Given the description of an element on the screen output the (x, y) to click on. 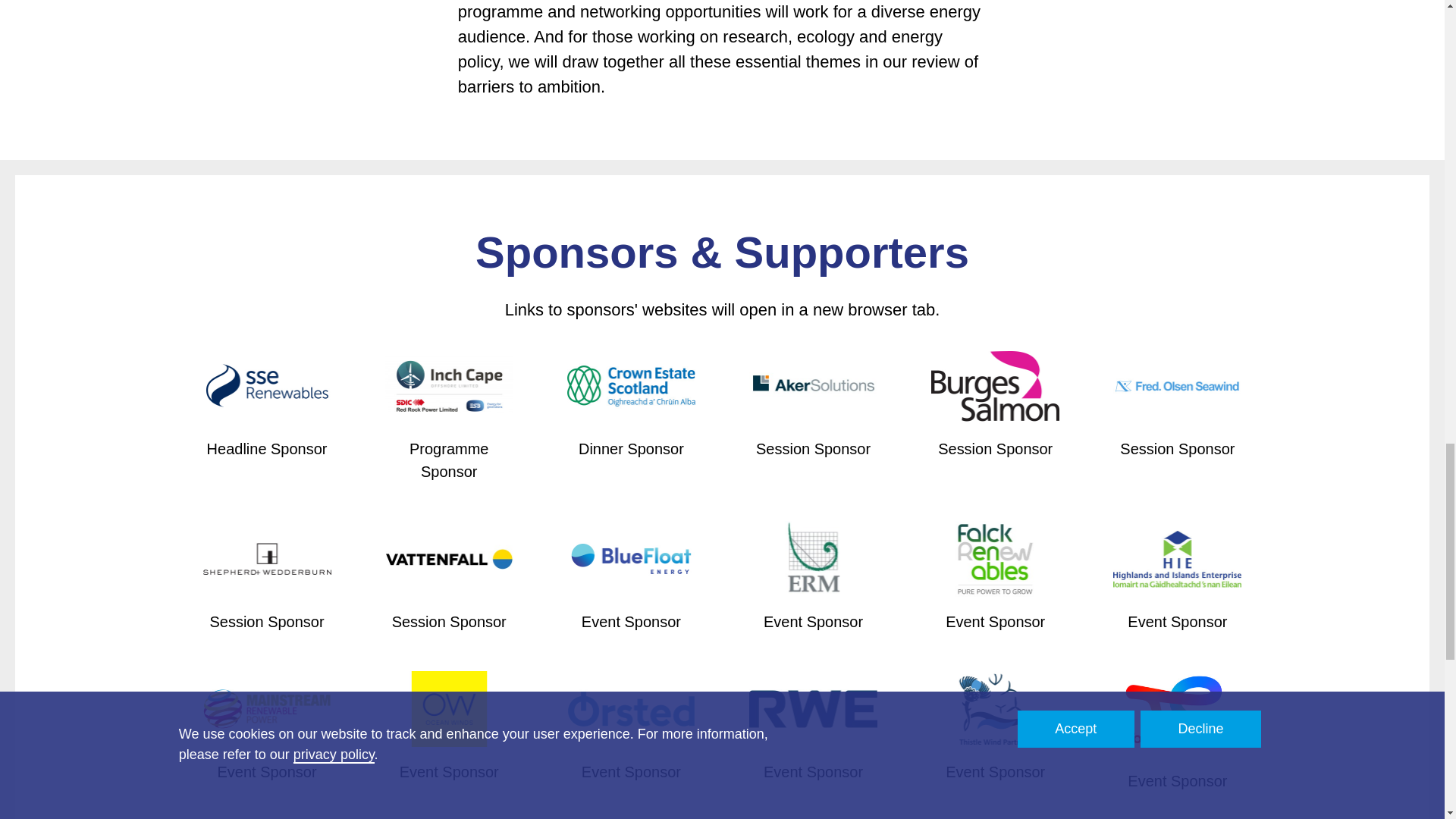
Vattenfall (449, 558)
Crown Estate Scotland (631, 386)
Inch Cape Offshore Limited (449, 386)
Fred. Olsen Seawind (1177, 386)
Aker Solutions (813, 386)
SSE Renewables (267, 386)
Burges Salmon (995, 386)
